Given the description of an element on the screen output the (x, y) to click on. 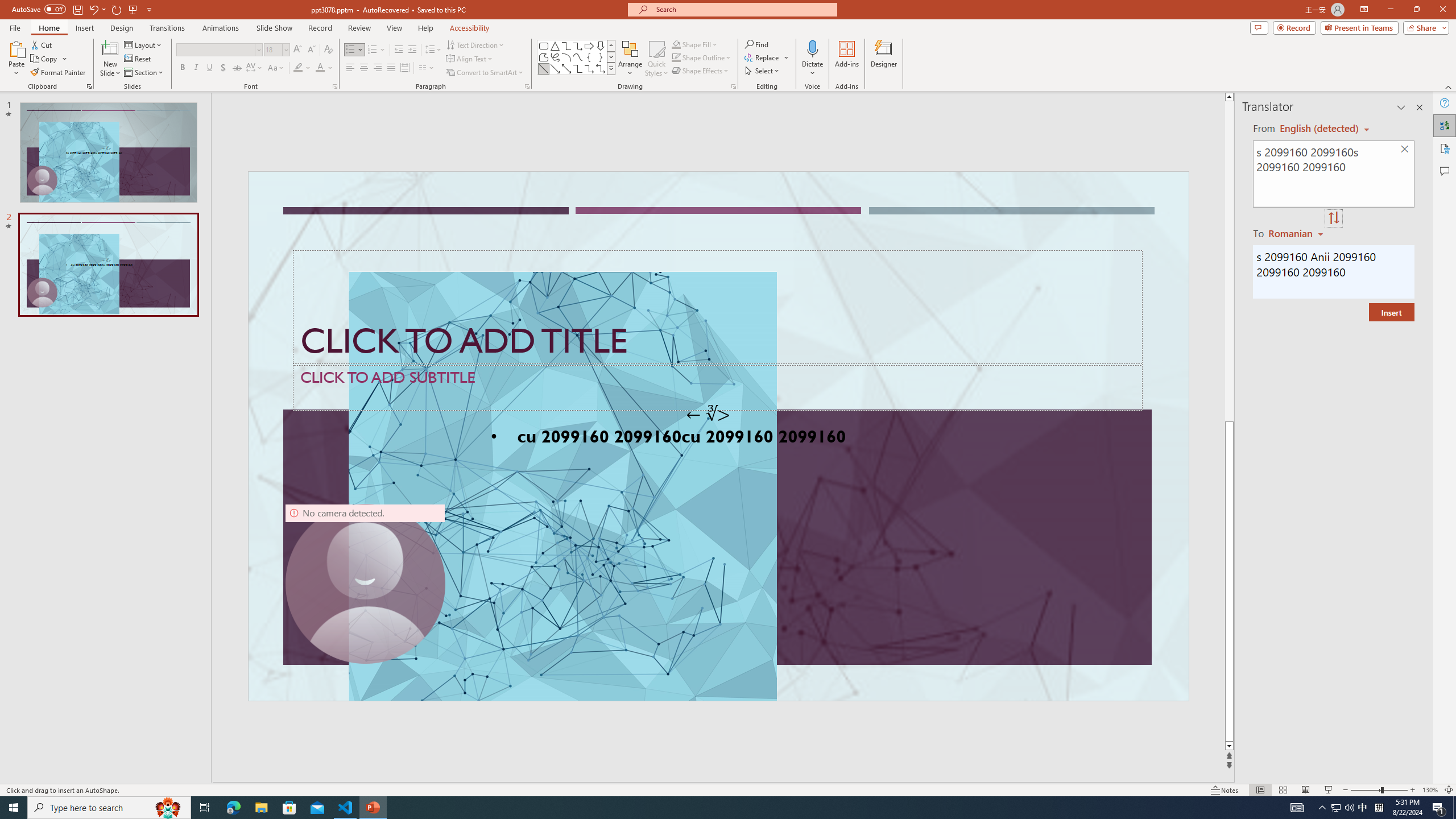
TextBox 7 (708, 414)
